Given the description of an element on the screen output the (x, y) to click on. 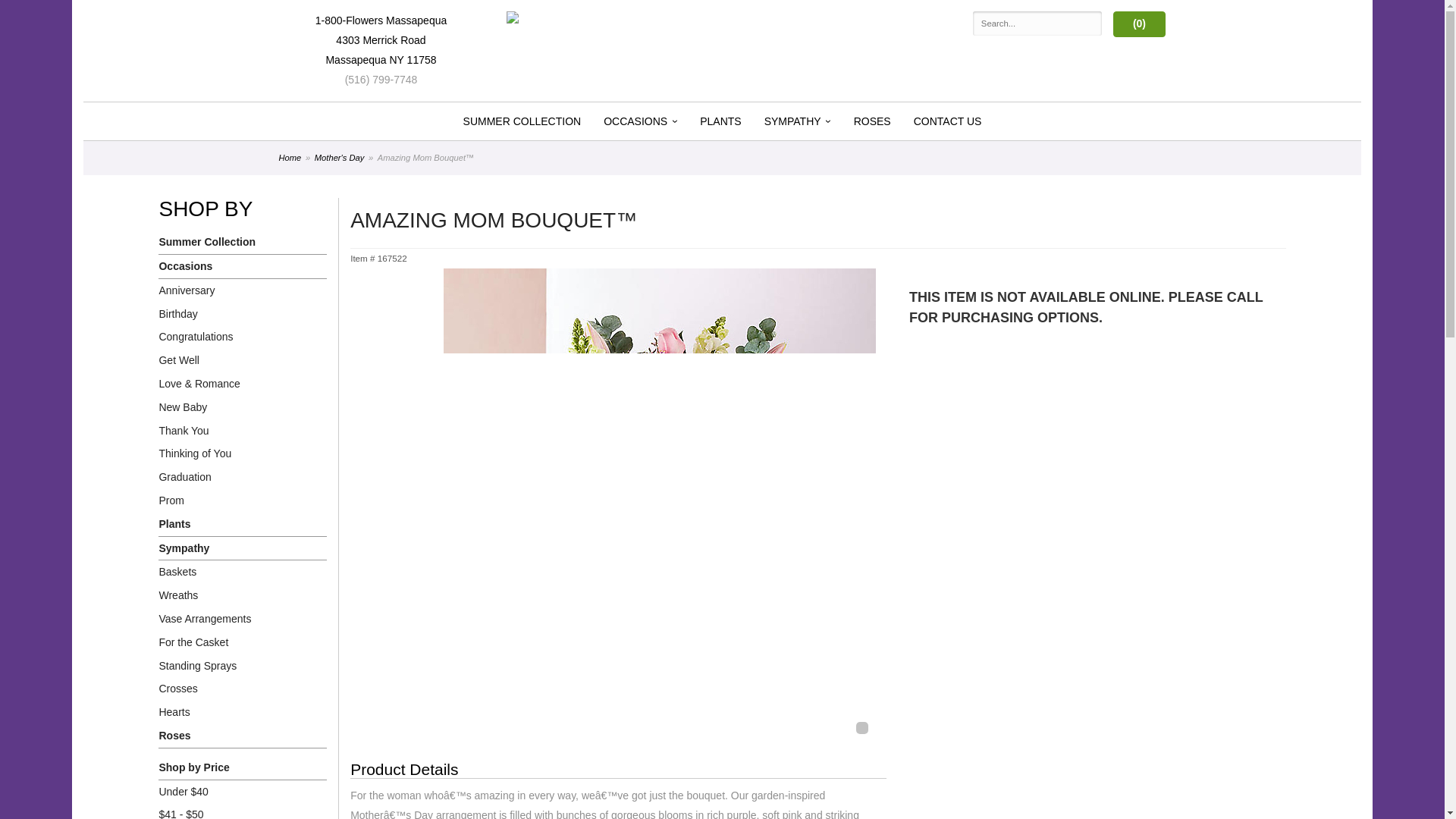
SYMPATHY (797, 121)
OCCASIONS (640, 121)
Thank You (242, 431)
ROSES (872, 121)
Birthday (242, 313)
Anniversary (242, 290)
Summer Collection (242, 242)
PLANTS (720, 121)
Congratulations (242, 336)
CONTACT US (947, 121)
Occasions (242, 266)
SUMMER COLLECTION (521, 121)
New Baby (242, 407)
Home (290, 157)
Get Well (242, 360)
